Given the description of an element on the screen output the (x, y) to click on. 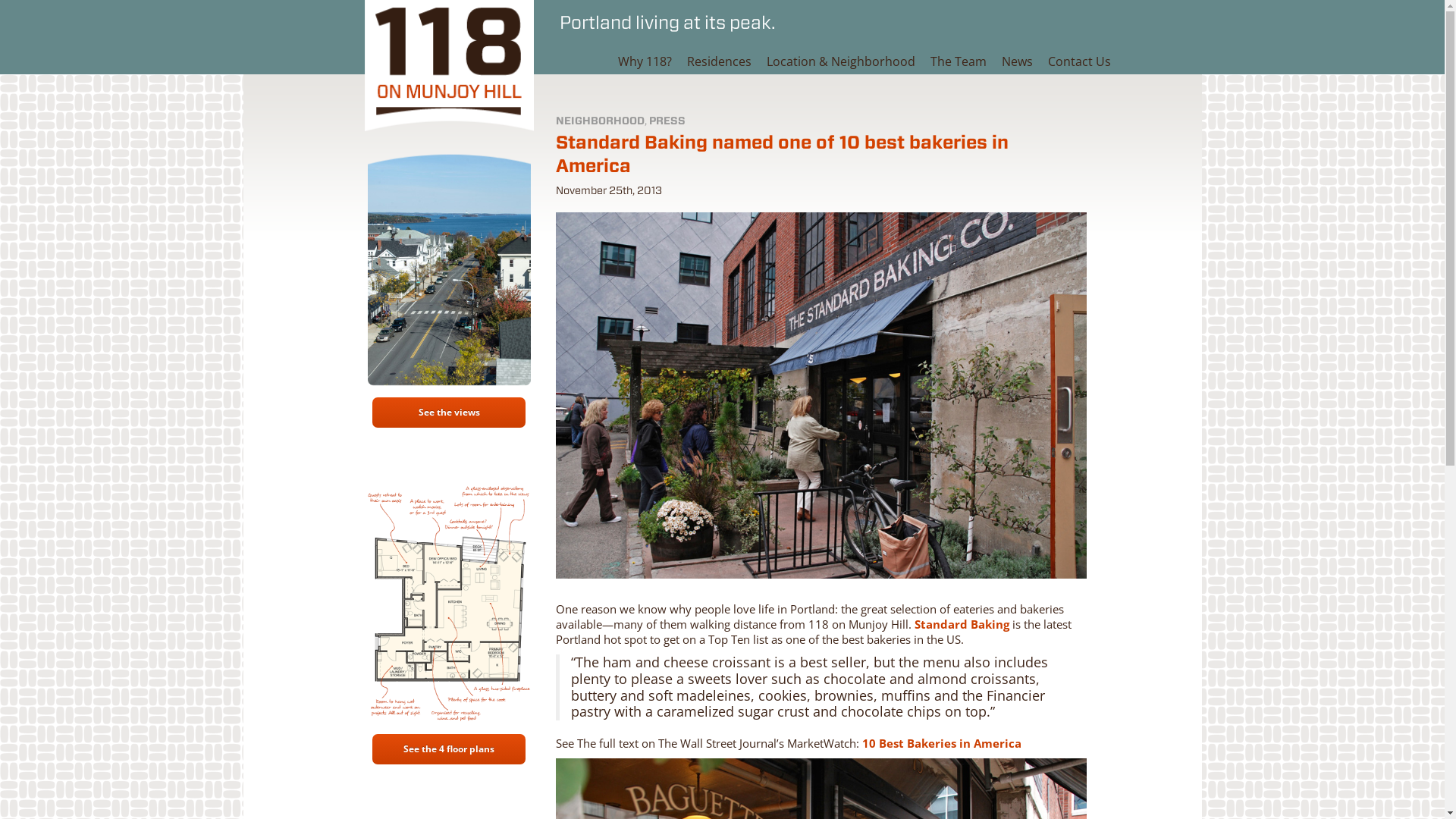
Contact Us Element type: text (1079, 61)
Location & Neighborhood Element type: text (840, 61)
Why 118? Element type: text (644, 61)
See the 4 floor plans Element type: text (448, 749)
Standard Baking Element type: text (961, 623)
10 Best Bakeries in America Element type: text (941, 742)
News Element type: text (1017, 61)
PRESS Element type: text (667, 120)
Residences Element type: text (719, 61)
See the views Element type: text (448, 412)
The Team Element type: text (958, 61)
NEIGHBORHOOD Element type: text (599, 120)
